Given the description of an element on the screen output the (x, y) to click on. 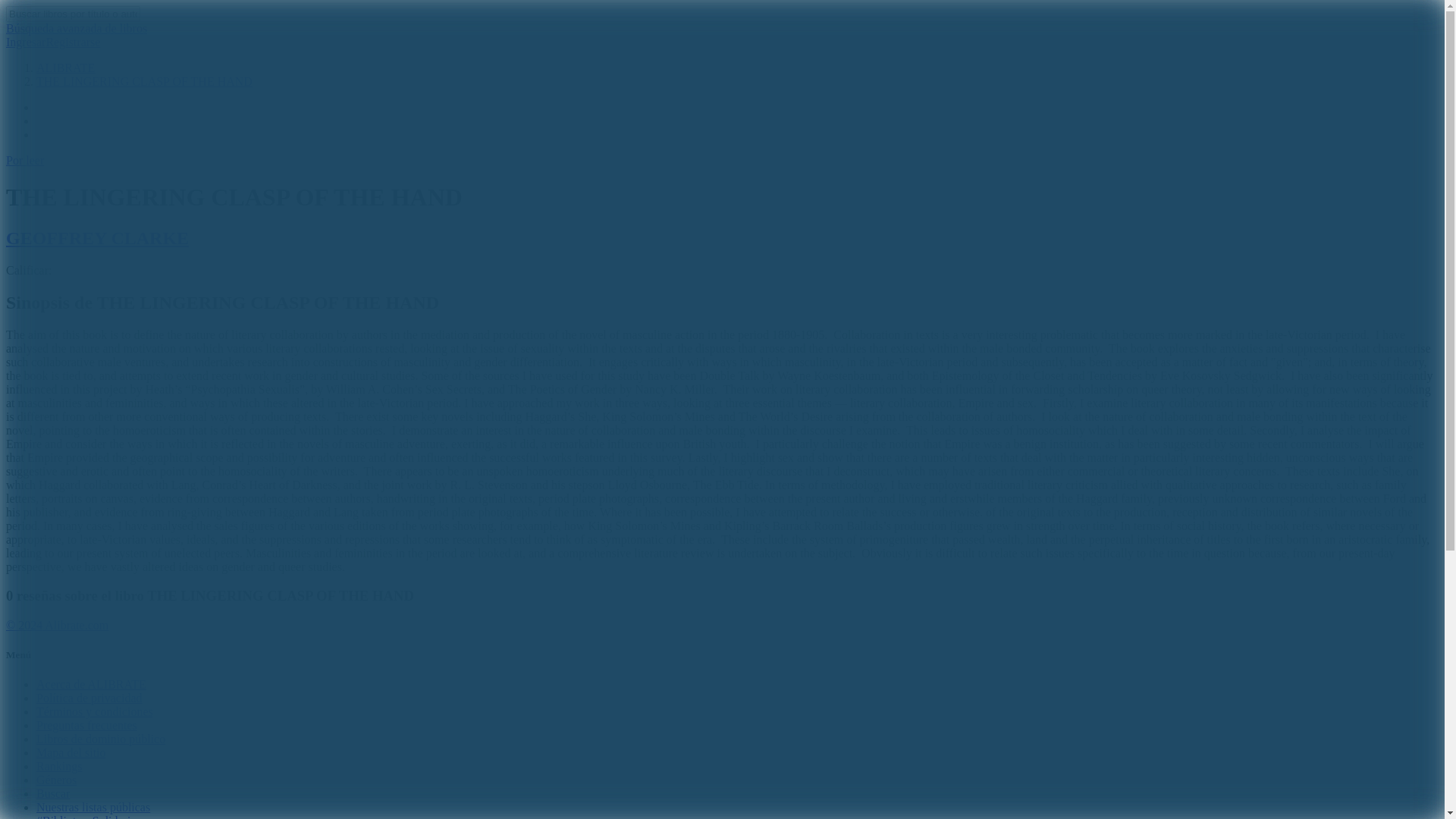
Mapa del sitio (71, 752)
Buscar (52, 793)
Preguntas frecuentes (86, 725)
Acerca de ALIBRATE (91, 684)
Ingresar (25, 42)
Por leer (24, 160)
Rankings (58, 766)
Registrarse (72, 42)
ALIBRATE (65, 67)
THE LINGERING CLASP OF THE HAND (143, 81)
